Given the description of an element on the screen output the (x, y) to click on. 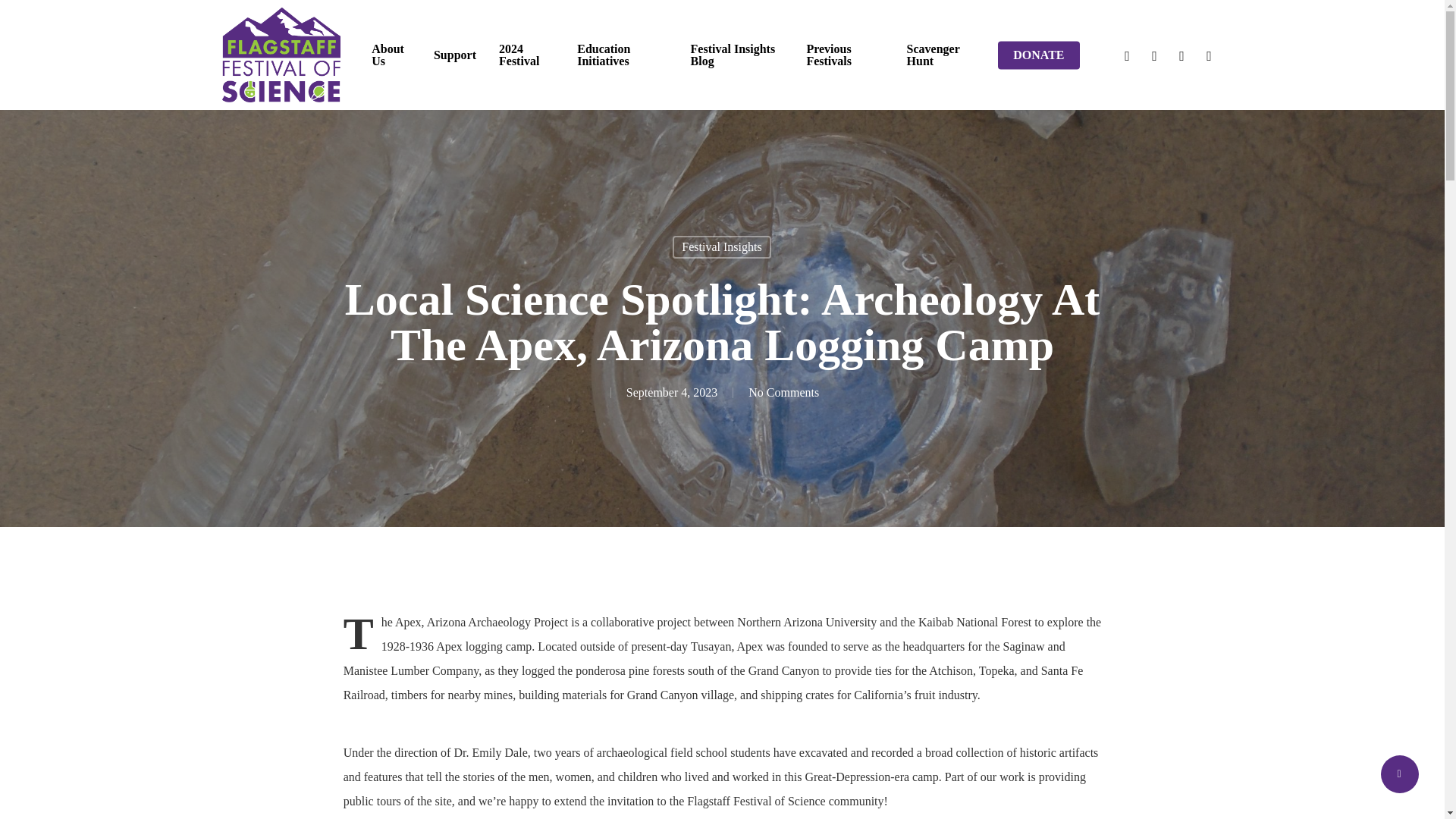
Festival Insights Blog (737, 54)
DONATE (1037, 54)
2024 Festival (526, 54)
About Us (390, 54)
Support (454, 54)
Scavenger Hunt (941, 54)
Education Initiatives (621, 54)
No Comments (783, 391)
Festival Insights (721, 246)
Previous Festivals (844, 54)
